Given the description of an element on the screen output the (x, y) to click on. 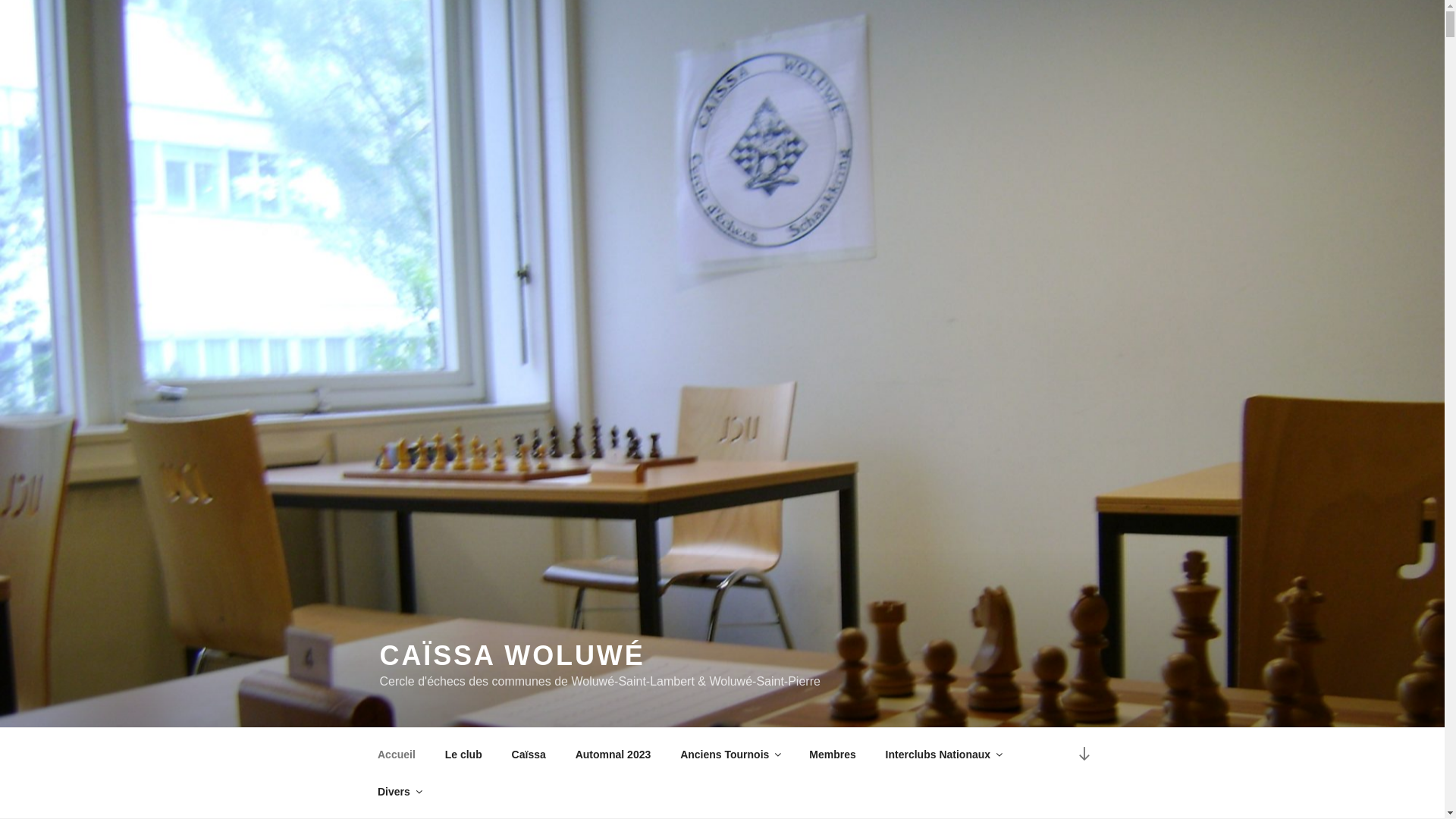
Membres Element type: text (832, 753)
Anciens Tournois Element type: text (730, 753)
Accueil Element type: text (396, 753)
Interclubs Nationaux Element type: text (942, 753)
Divers Element type: text (398, 791)
Automnal 2023 Element type: text (612, 753)
Le club Element type: text (463, 753)
